Given the description of an element on the screen output the (x, y) to click on. 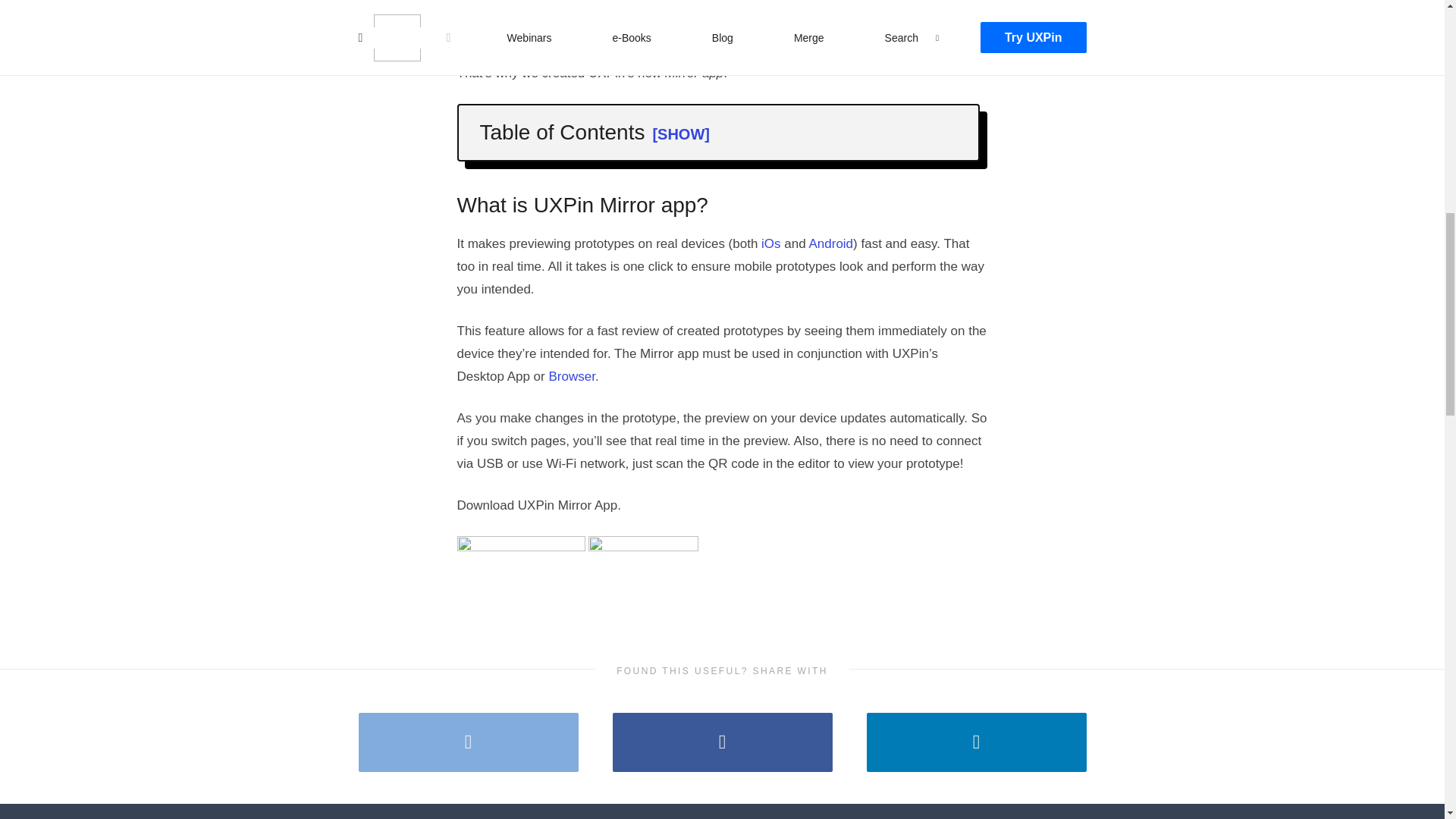
Android (830, 243)
Share on Linkedin (976, 742)
What is UXPin Mirror app? (574, 167)
Share on Twitter (468, 742)
Share on Facebook (722, 742)
Browser (571, 376)
iOs (770, 243)
